Given the description of an element on the screen output the (x, y) to click on. 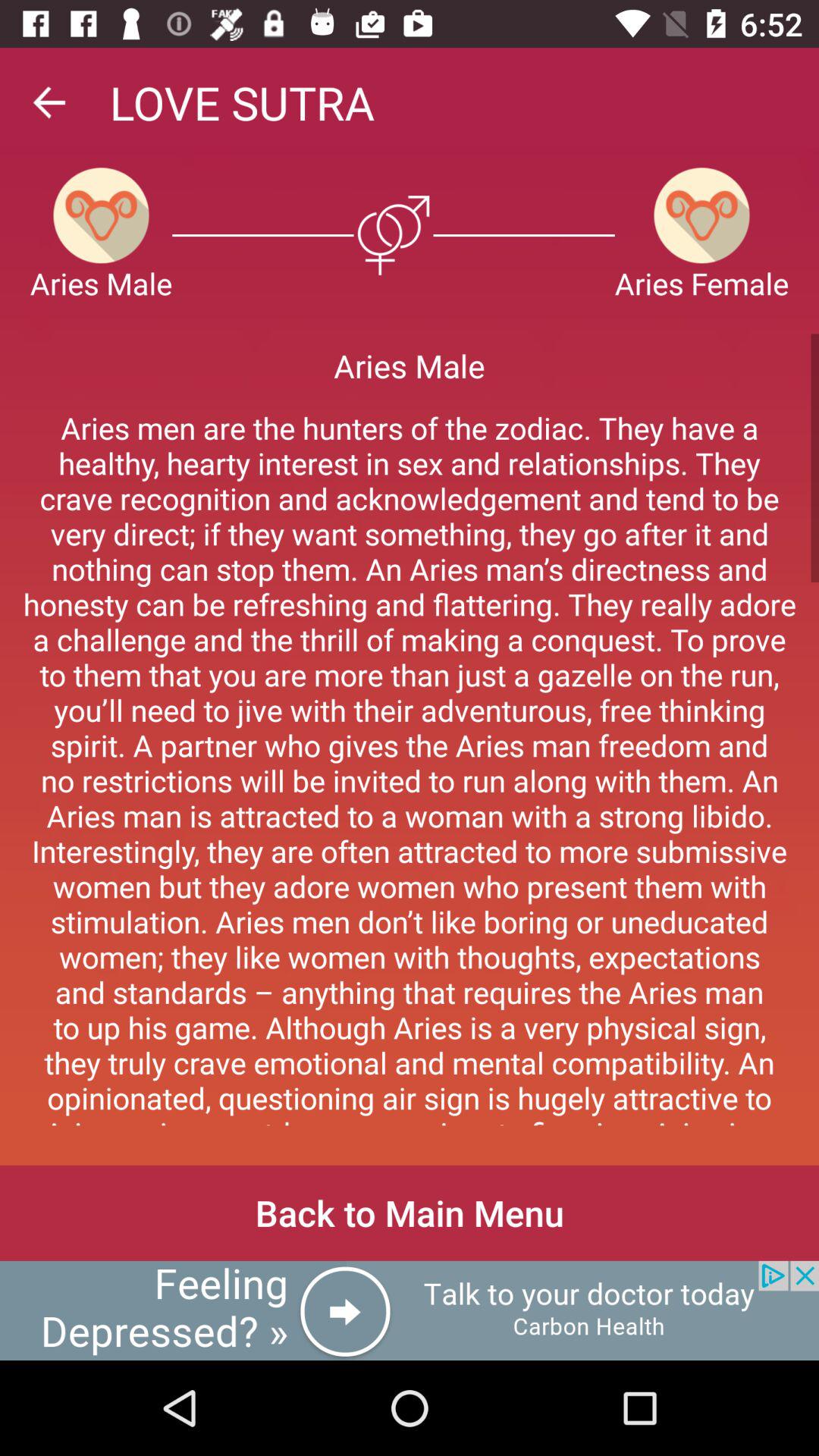
click the advertisement (409, 1310)
